Given the description of an element on the screen output the (x, y) to click on. 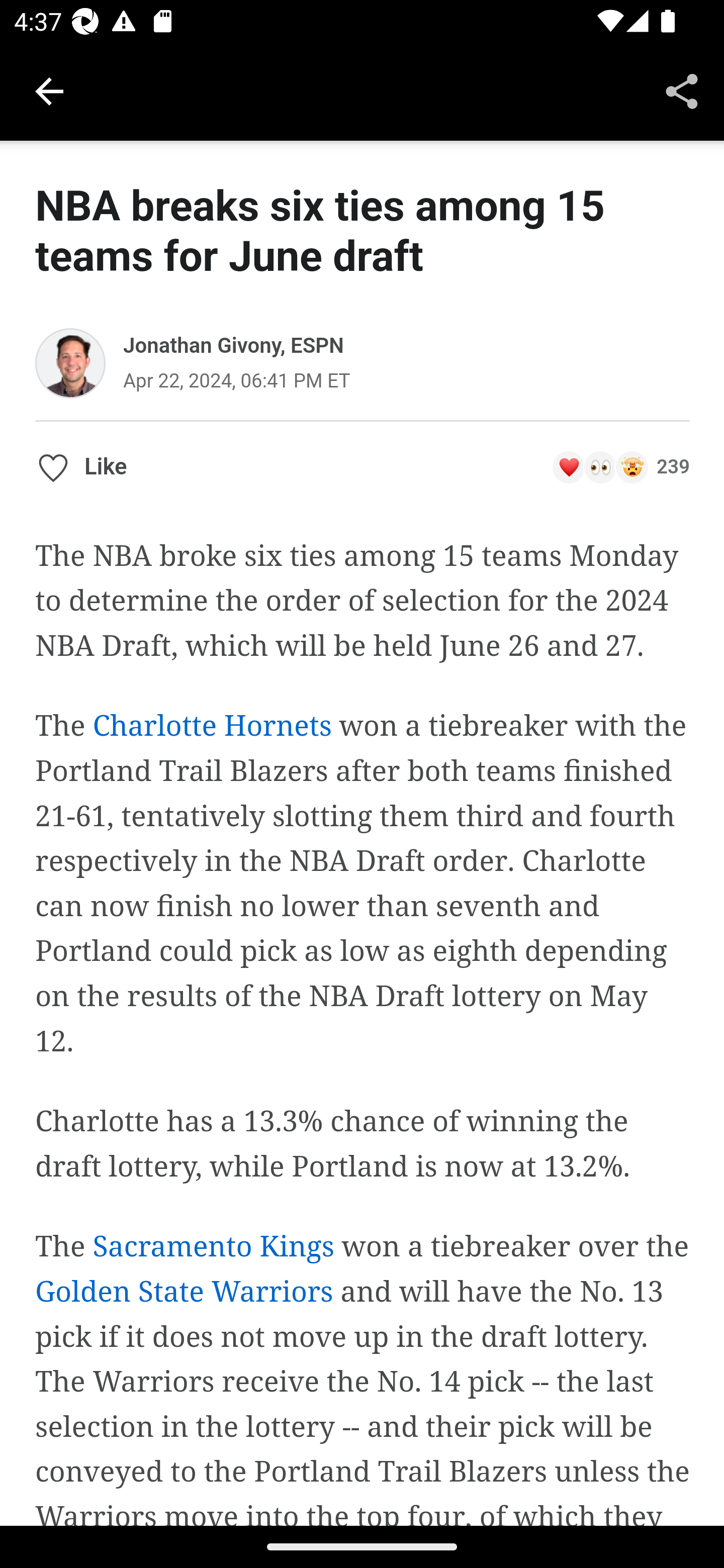
Navigate up (49, 91)
Share (681, 90)
